Given the description of an element on the screen output the (x, y) to click on. 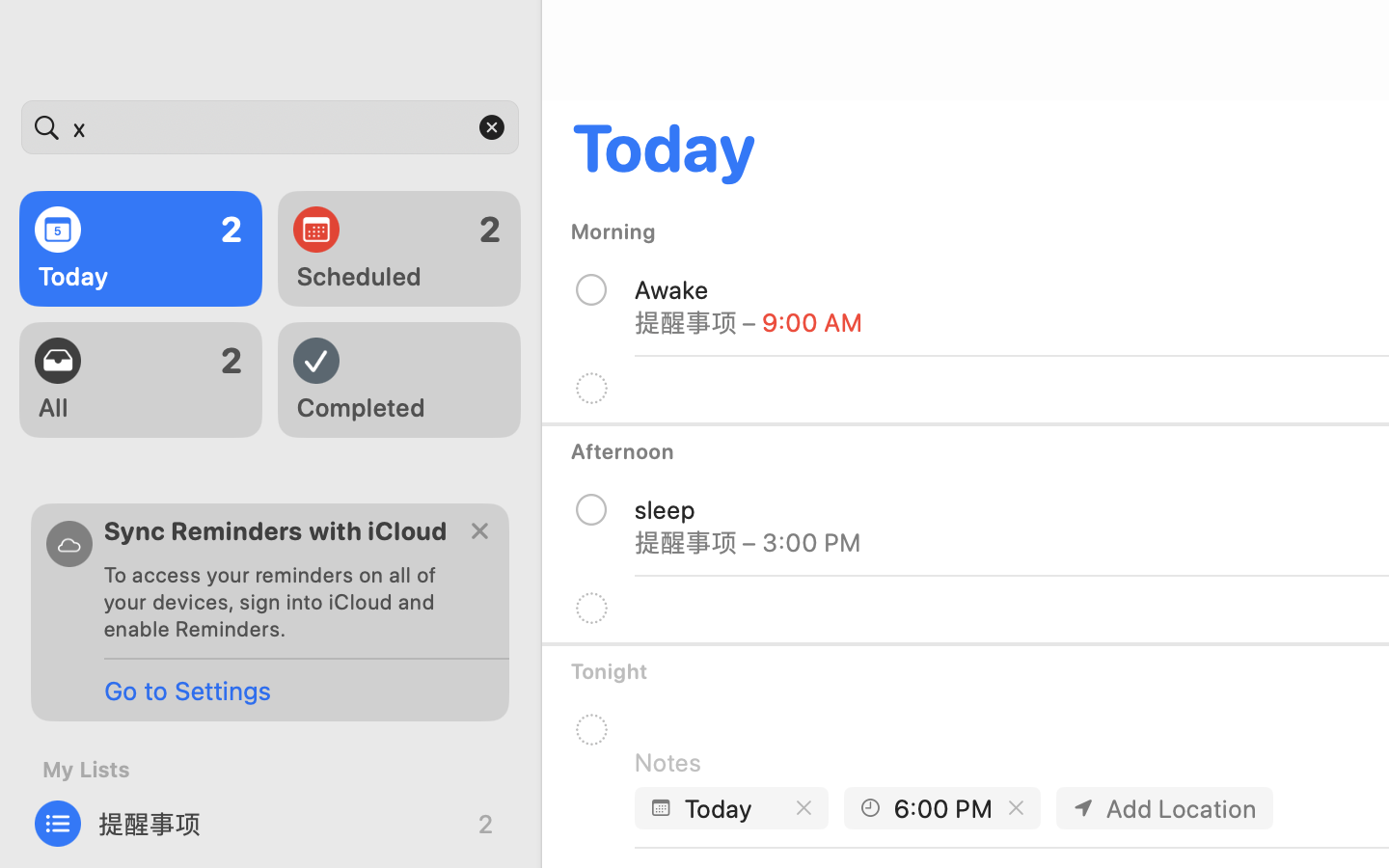
To access your reminders on all of your devices, sign into iCloud and enable Reminders. Element type: AXStaticText (278, 601)
提醒事项 Element type: AXTextField (270, 823)
6:00 PM Element type: AXTextField (943, 807)
Today Element type: AXTextField (733, 807)
提醒事项 – 9:00 AM Element type: AXStaticText (748, 321)
